Given the description of an element on the screen output the (x, y) to click on. 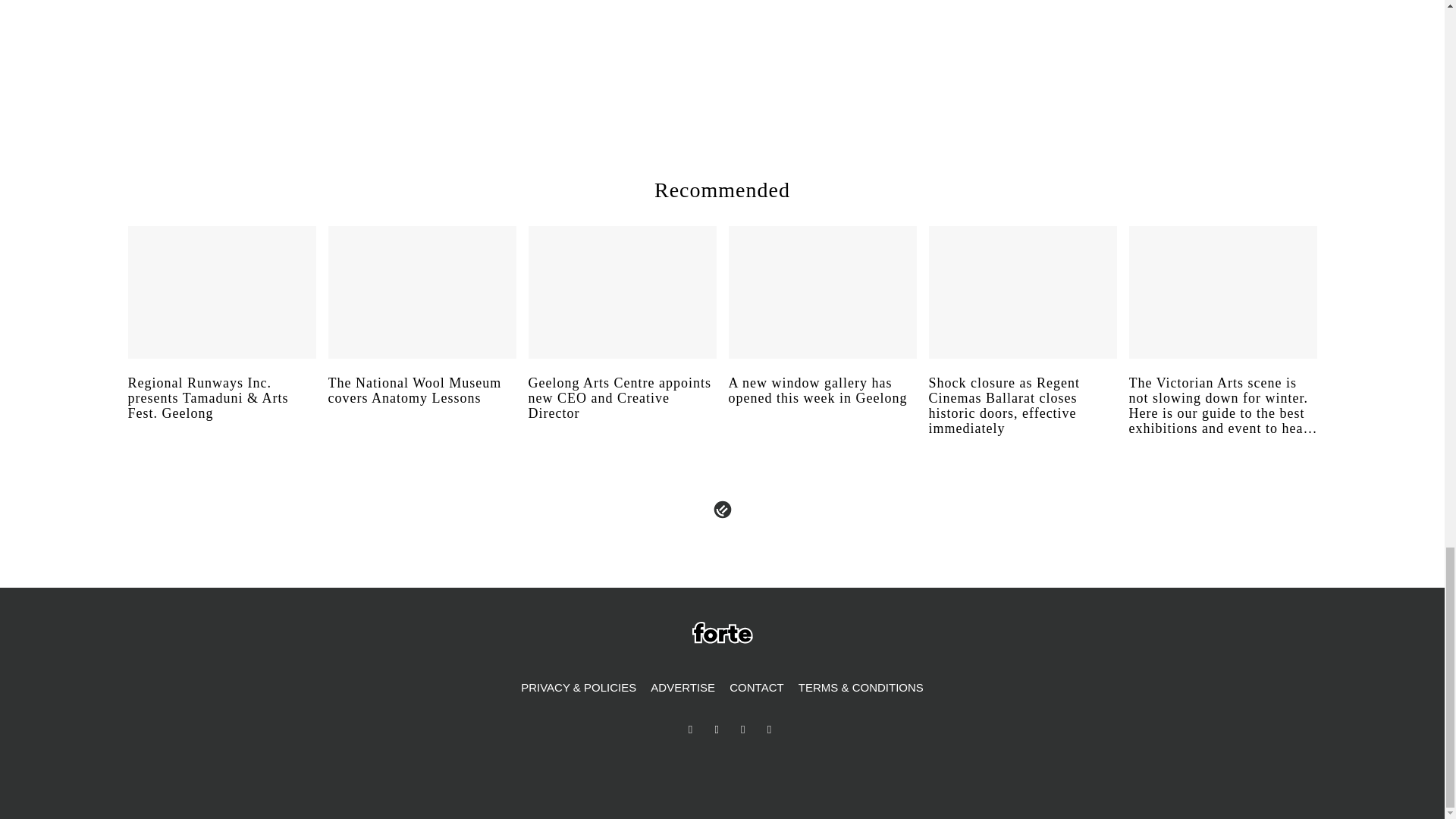
Geelong Arts Centre appoints new CEO and Creative Director (621, 412)
3rd party ad content (1082, 54)
The National Wool Museum covers Anatomy Lessons (421, 404)
A new window gallery has opened this week in Geelong (821, 404)
